Given the description of an element on the screen output the (x, y) to click on. 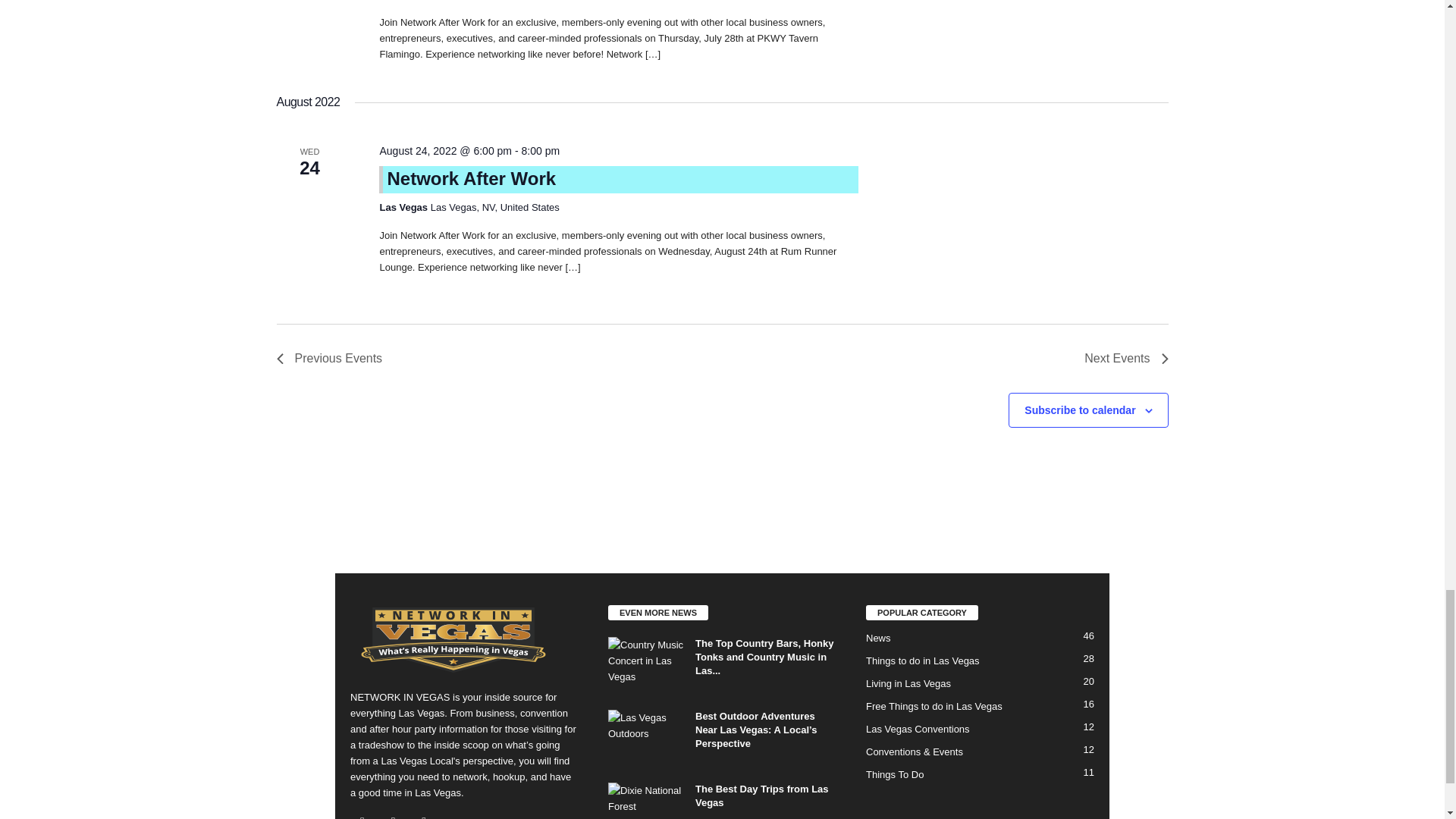
Previous Events (328, 358)
Network After Work (471, 178)
Next Events (1125, 358)
